Given the description of an element on the screen output the (x, y) to click on. 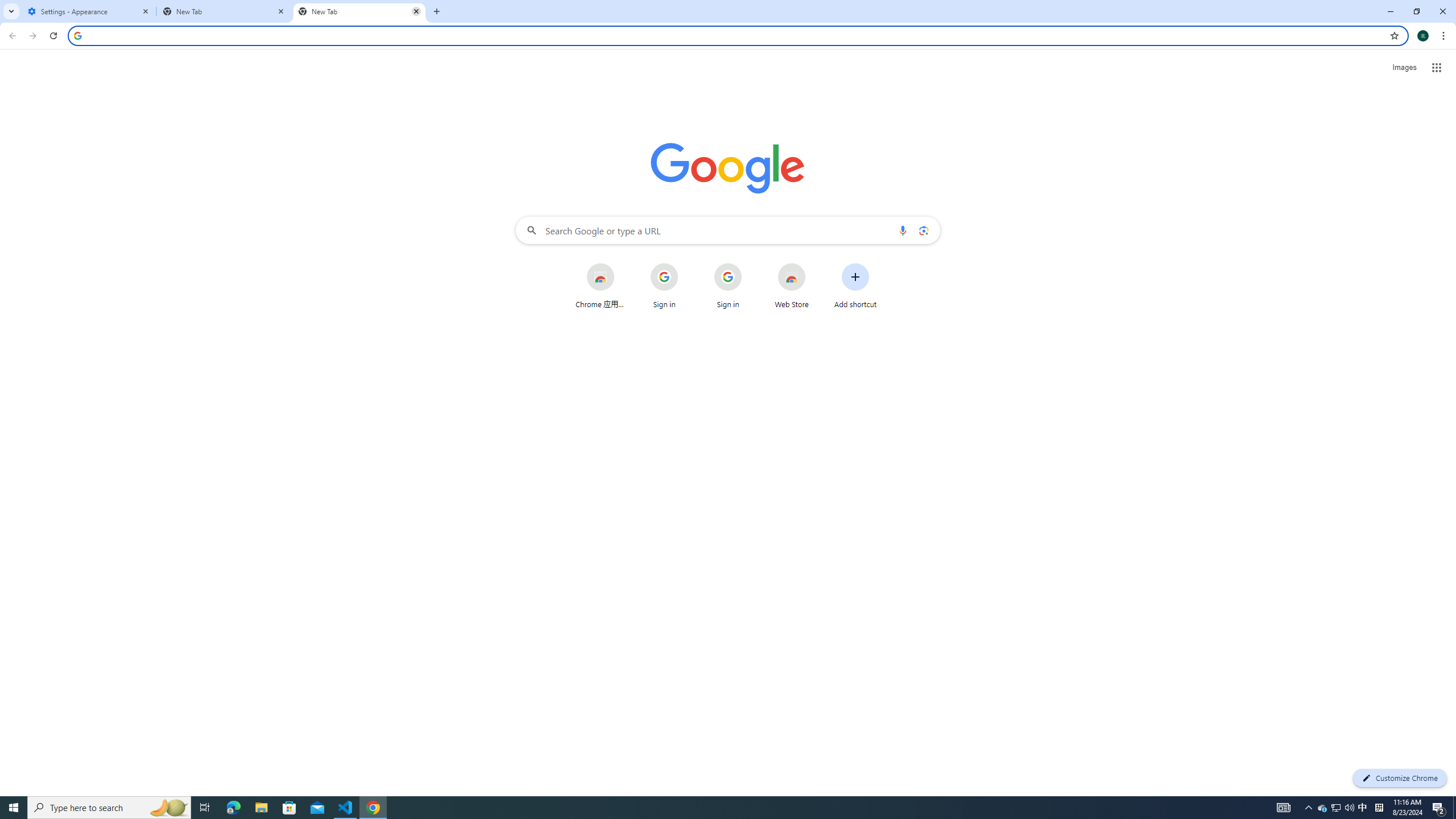
New Tab (359, 11)
